Given the description of an element on the screen output the (x, y) to click on. 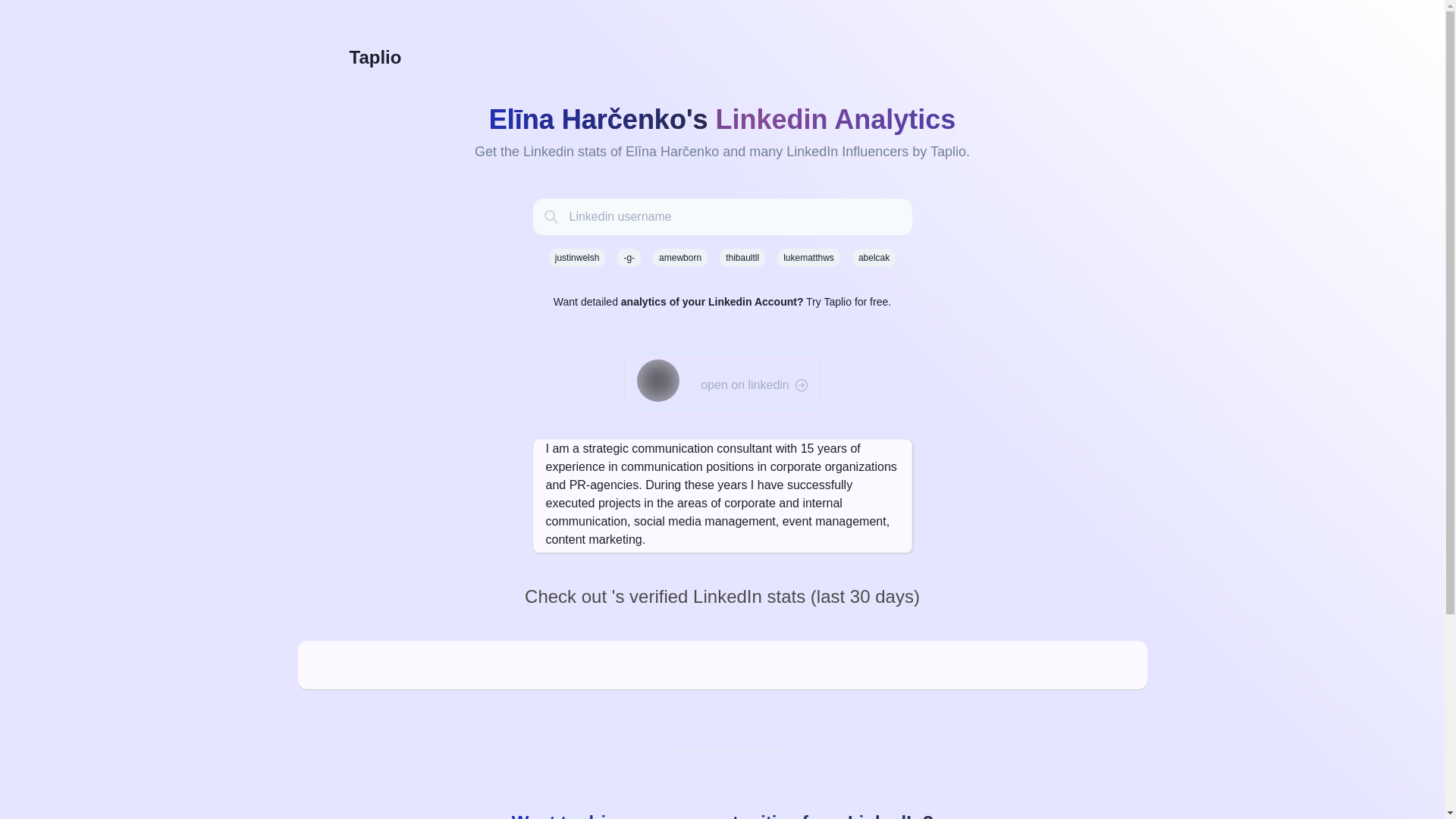
justinwelsh (576, 257)
open on linkedin (754, 384)
Taplio (721, 57)
abelcak (873, 257)
amewborn (679, 257)
thibaultll (742, 257)
-g- (628, 257)
lukematthws (808, 257)
